Given the description of an element on the screen output the (x, y) to click on. 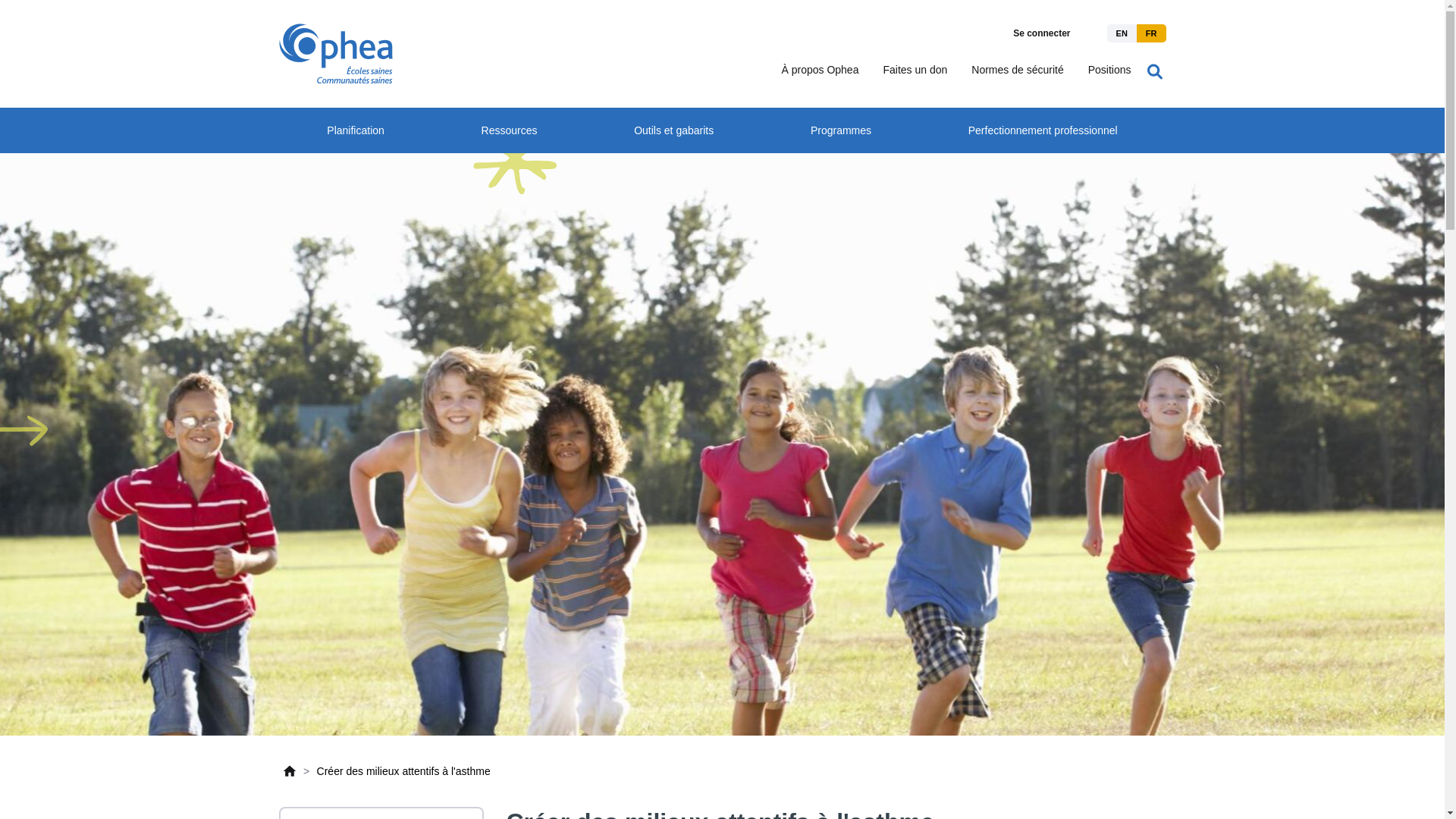
EN Element type: text (1121, 33)
Programmes Element type: text (840, 130)
Ressources Element type: text (509, 130)
Positions Element type: text (1109, 69)
Se connecter Element type: text (1041, 33)
FR Element type: text (1151, 33)
Outils et gabarits Element type: text (673, 130)
Accueil Element type: text (289, 770)
"Toggle Search" Element type: text (1154, 71)
Planification Element type: text (356, 130)
Perfectionnement professionnel Element type: text (1042, 130)
Aller au contenu principal Element type: text (9, 9)
Faites un don Element type: text (914, 69)
Accueil Element type: hover (390, 53)
